Given the description of an element on the screen output the (x, y) to click on. 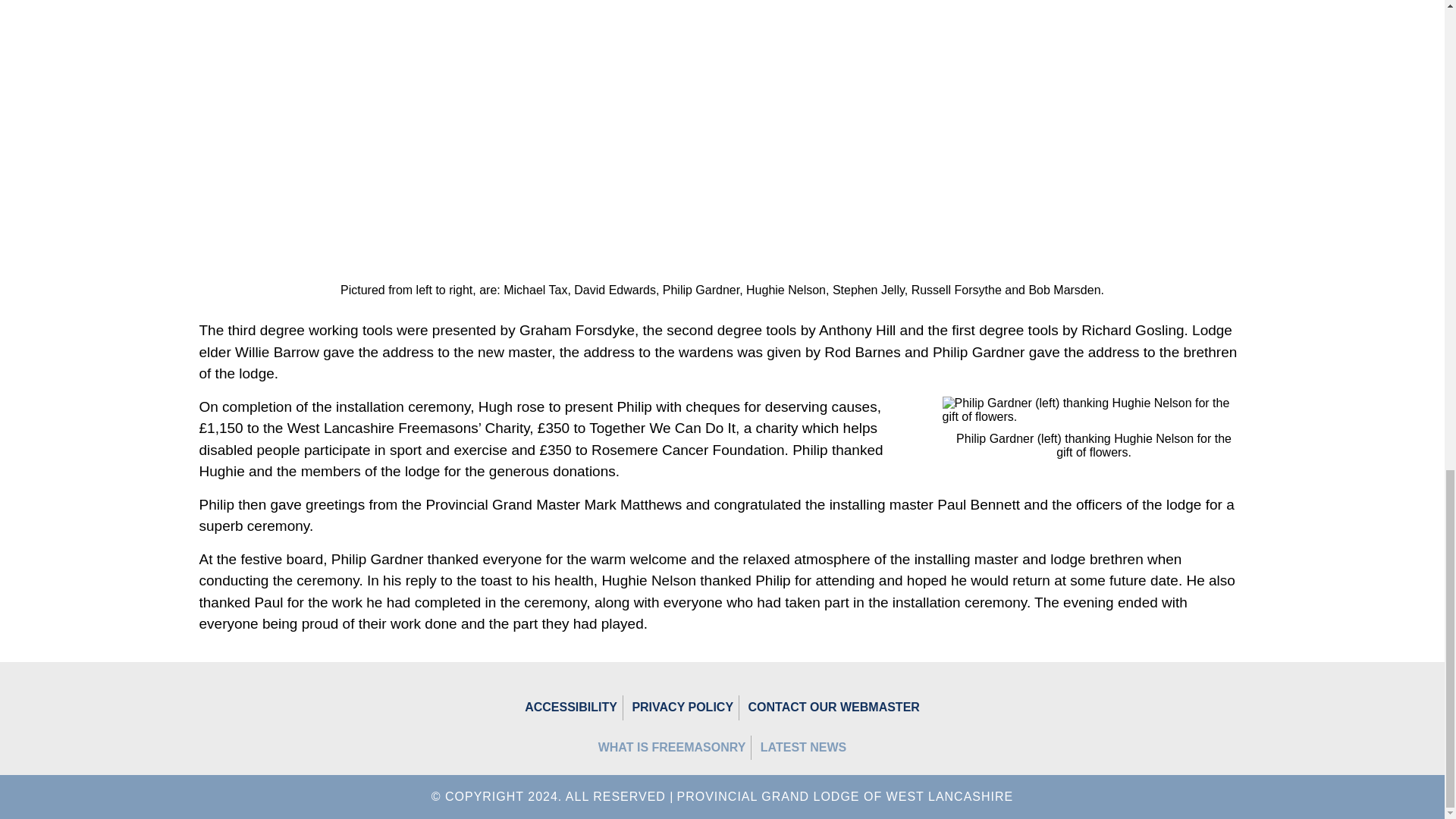
PRIVACY POLICY (682, 707)
ACCESSIBILITY (571, 707)
